Given the description of an element on the screen output the (x, y) to click on. 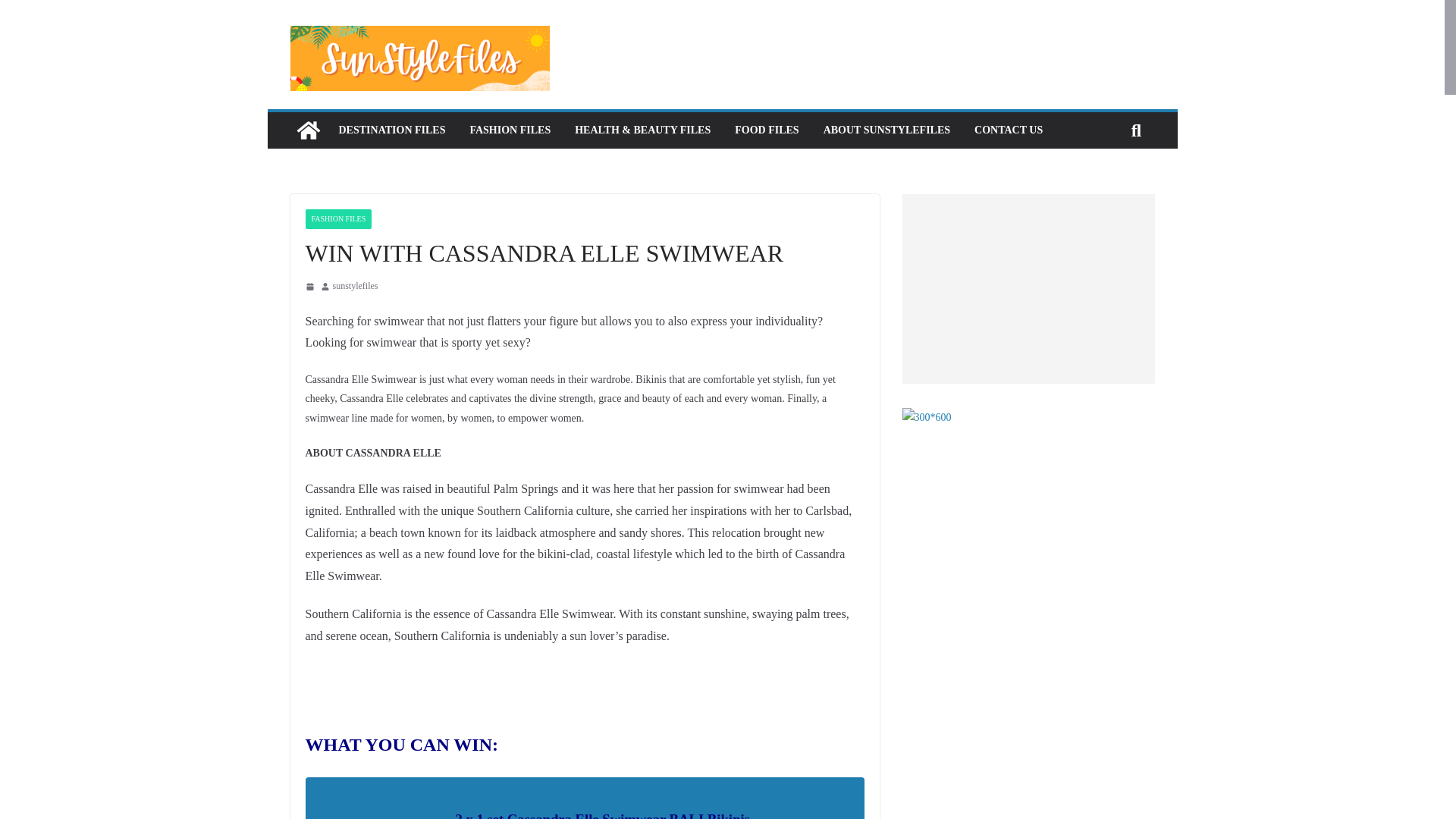
FASHION FILES (337, 219)
SUNSTYLEFILES (307, 130)
sunstylefiles (354, 286)
FOOD FILES (766, 129)
FASHION FILES (509, 129)
DESTINATION FILES (391, 129)
ABOUT SUNSTYLEFILES (887, 129)
Advertisement (1028, 289)
Advertisement (1028, 545)
